Given the description of an element on the screen output the (x, y) to click on. 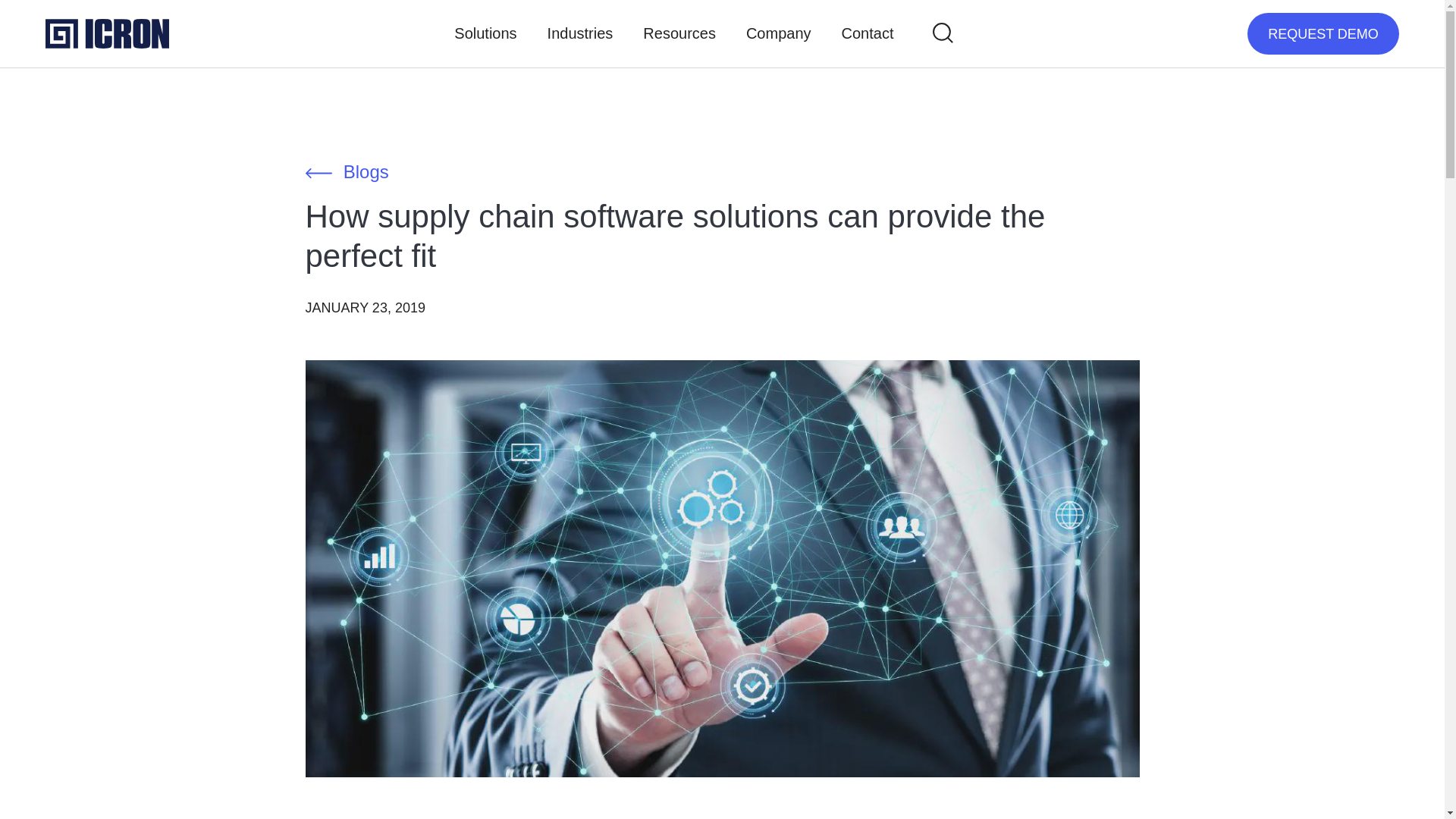
REQUEST DEMO (1323, 33)
Contact (867, 33)
Resources (679, 33)
